Given the description of an element on the screen output the (x, y) to click on. 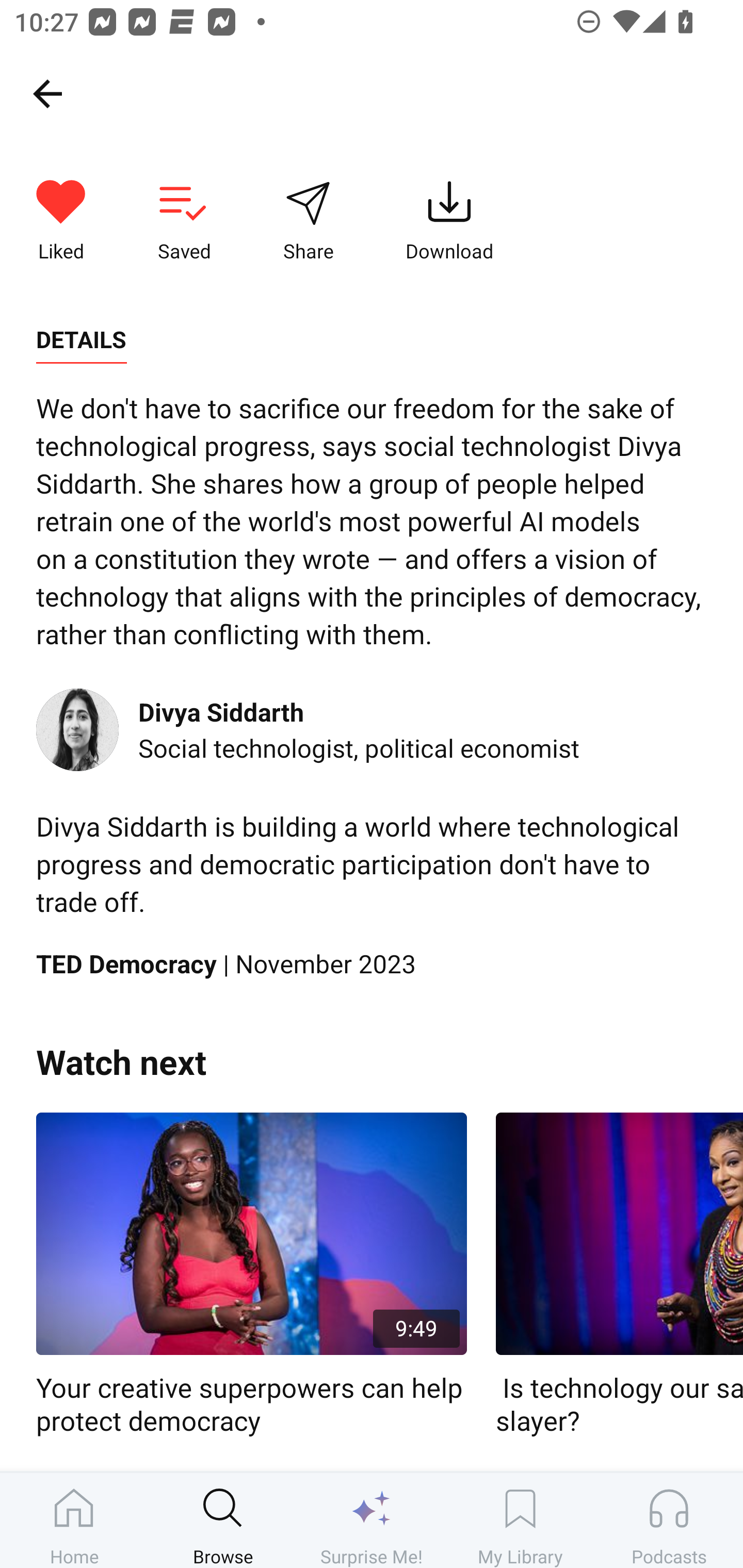
Search, back (47, 92)
Liked (60, 220)
Saved (183, 220)
Share (308, 220)
Download (449, 220)
DETAILS (80, 339)
 Is technology our savior — or our slayer? (619, 1275)
Home (74, 1520)
Browse (222, 1520)
Surprise Me! (371, 1520)
My Library (519, 1520)
Podcasts (668, 1520)
